Given the description of an element on the screen output the (x, y) to click on. 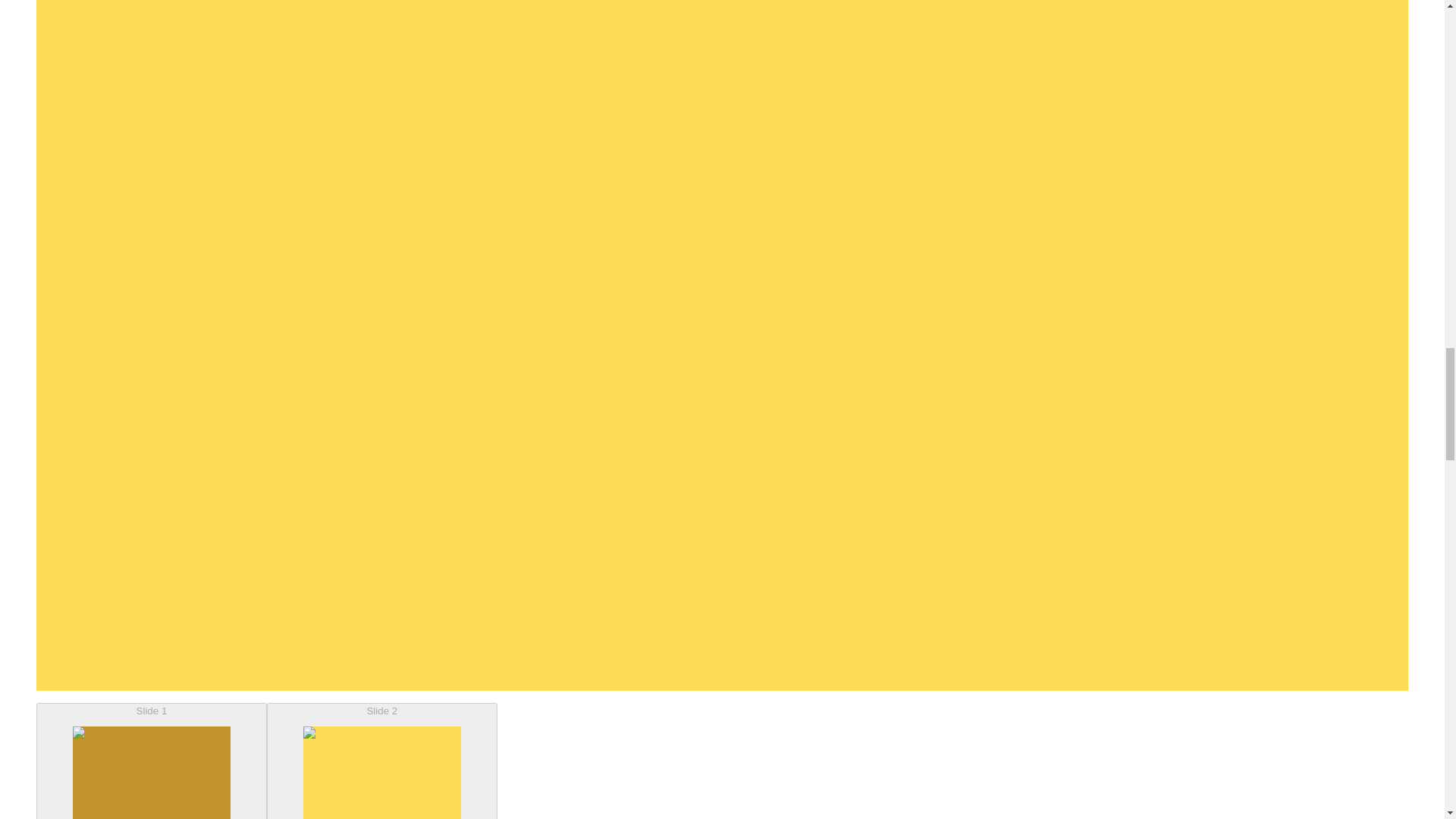
Slide 1 (151, 760)
Slide 2 (381, 760)
